Given the description of an element on the screen output the (x, y) to click on. 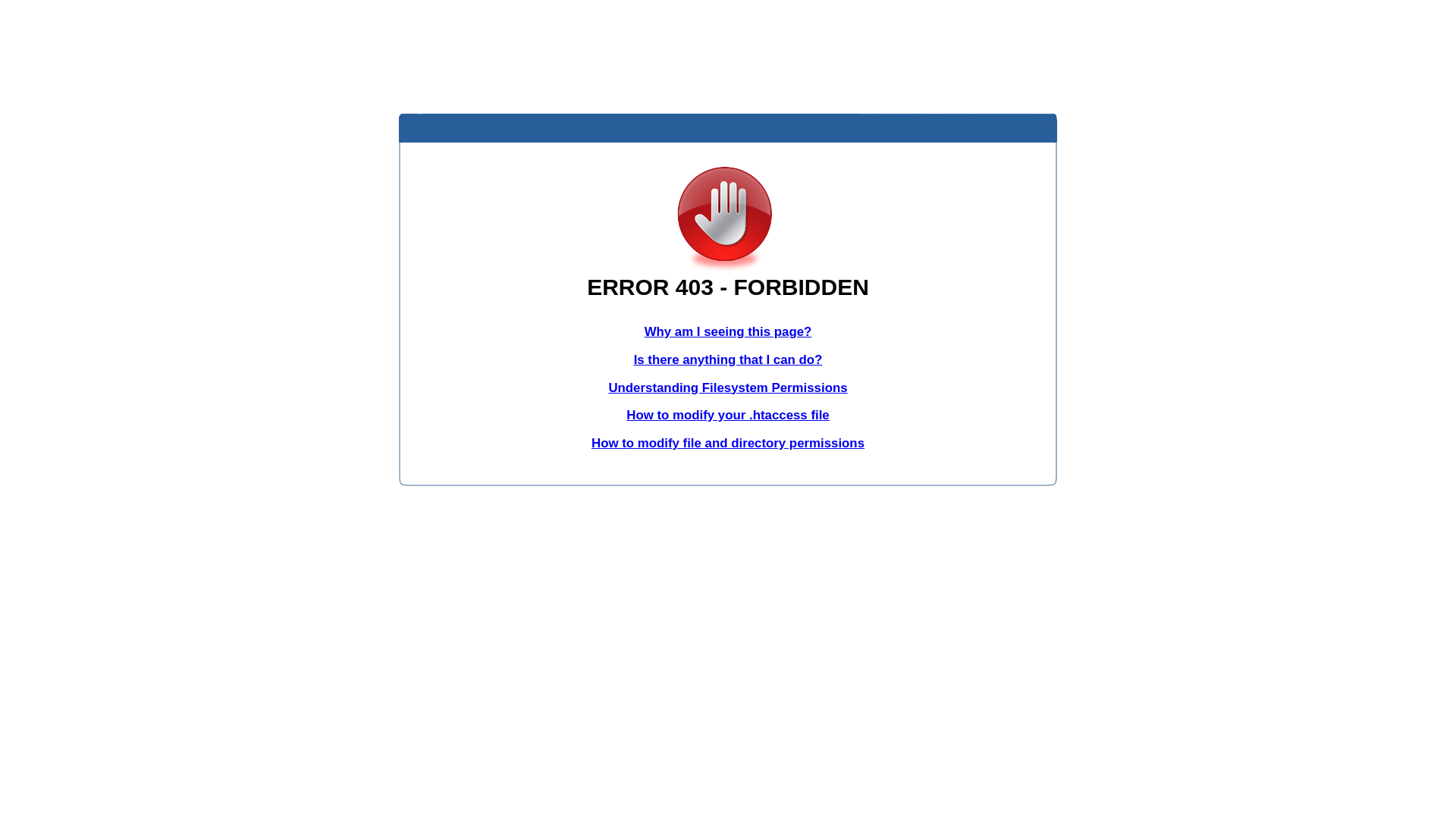
How to modify file and directory permissions Element type: text (727, 443)
How to modify your .htaccess file Element type: text (727, 414)
Why am I seeing this page? Element type: text (728, 331)
Understanding Filesystem Permissions Element type: text (727, 387)
Is there anything that I can do? Element type: text (727, 359)
